Given the description of an element on the screen output the (x, y) to click on. 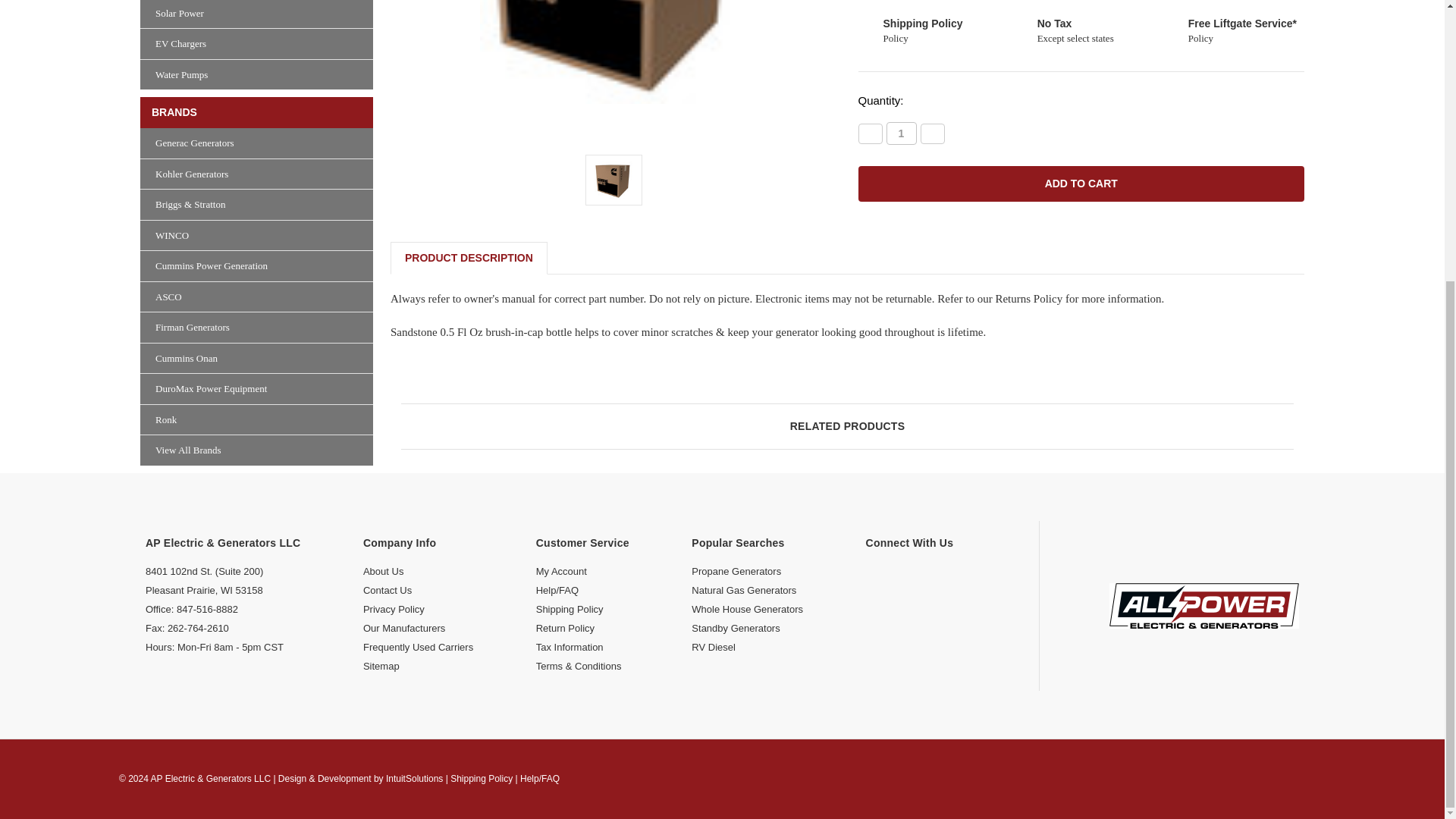
Add to Cart (1081, 183)
Cummins A046J607 Elevated Genset Base Barrier for RS30-RS40 (612, 180)
Cummins A046J607 Elevated Genset Base Barrier for RS30-RS40 (614, 52)
1 (900, 133)
